Given the description of an element on the screen output the (x, y) to click on. 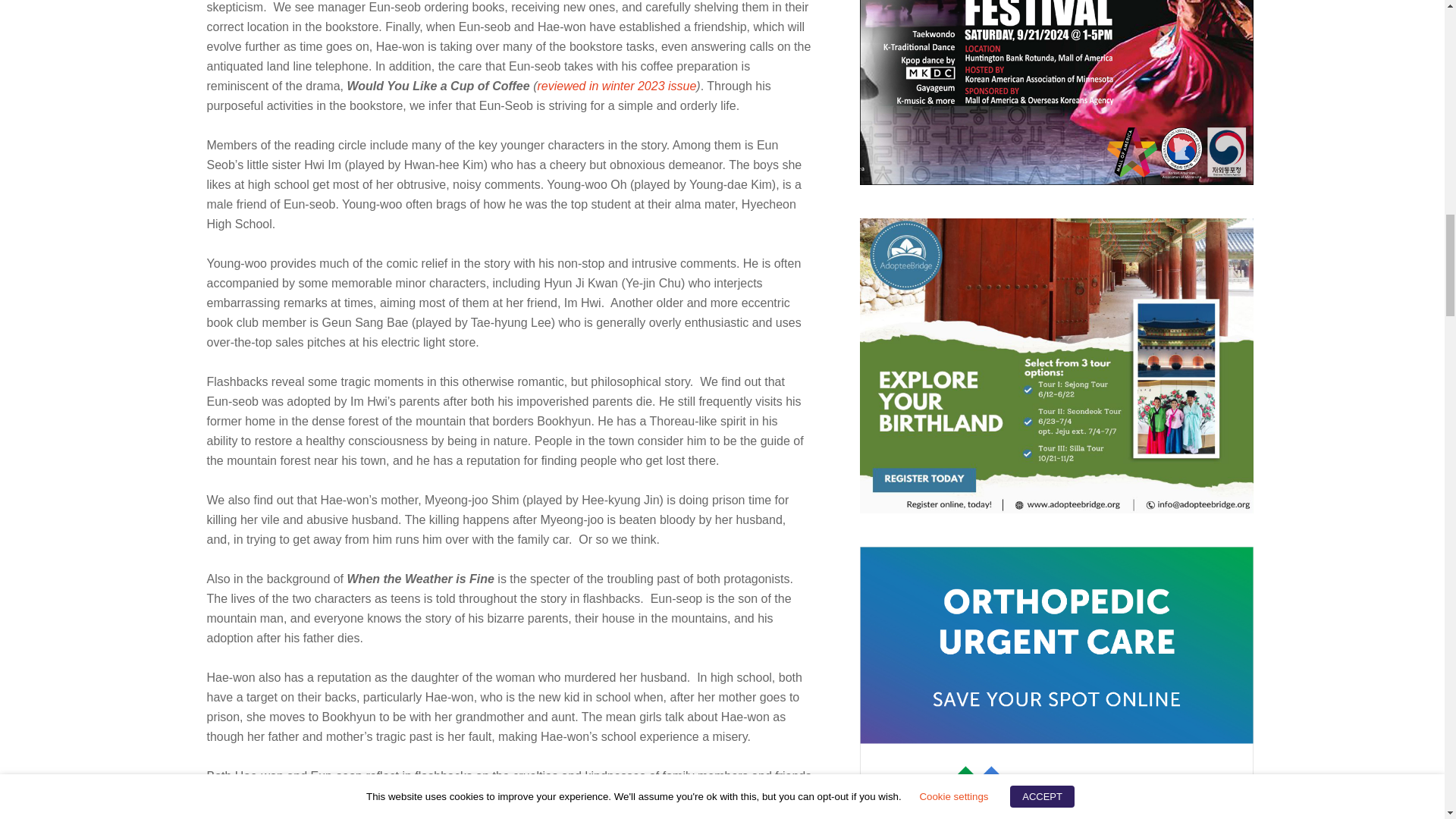
reviewed in winter 2023 issue (616, 85)
